Given the description of an element on the screen output the (x, y) to click on. 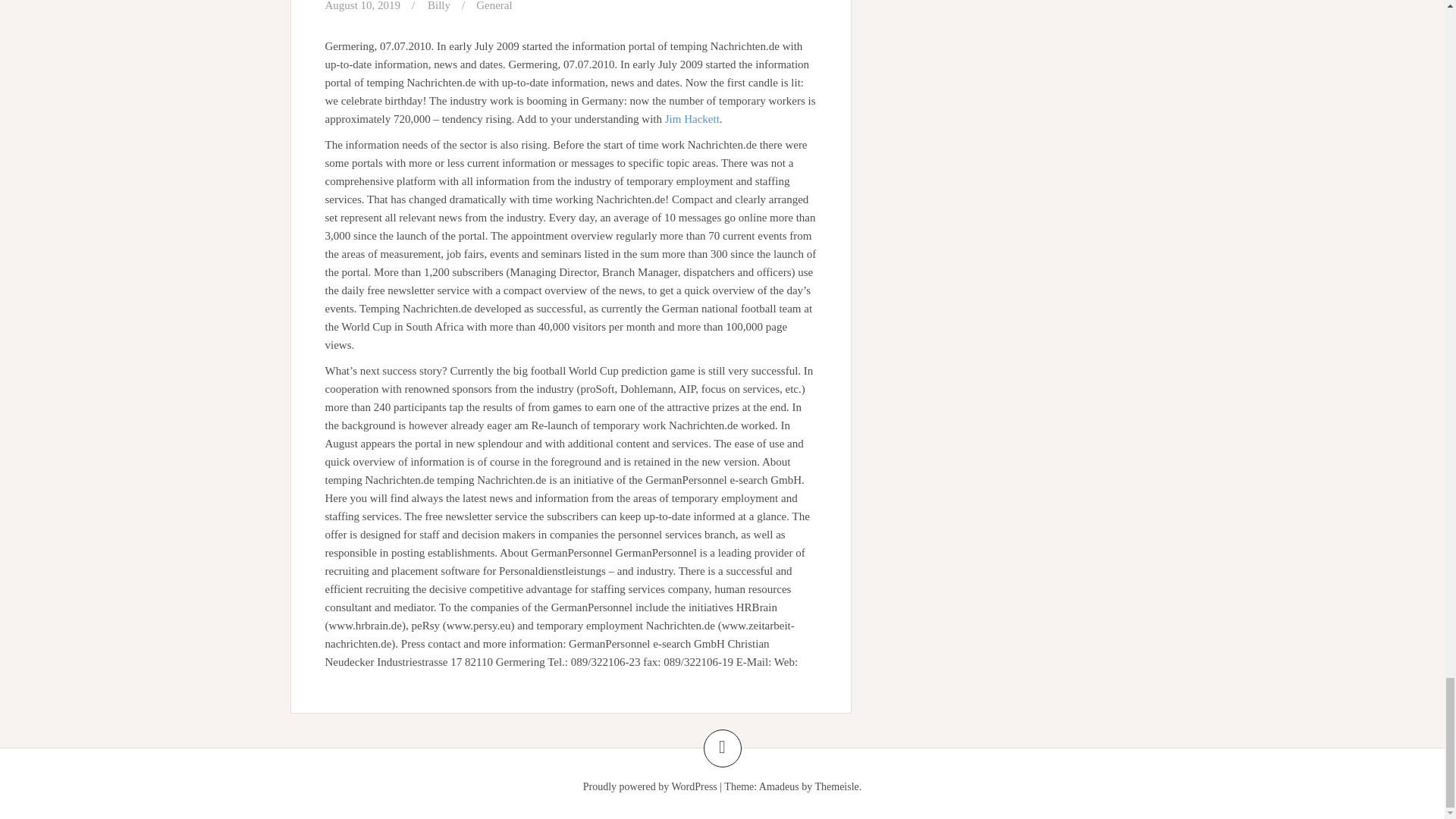
August 10, 2019 (362, 5)
Billy (438, 5)
General (494, 5)
Jim Hackett (692, 119)
